Given the description of an element on the screen output the (x, y) to click on. 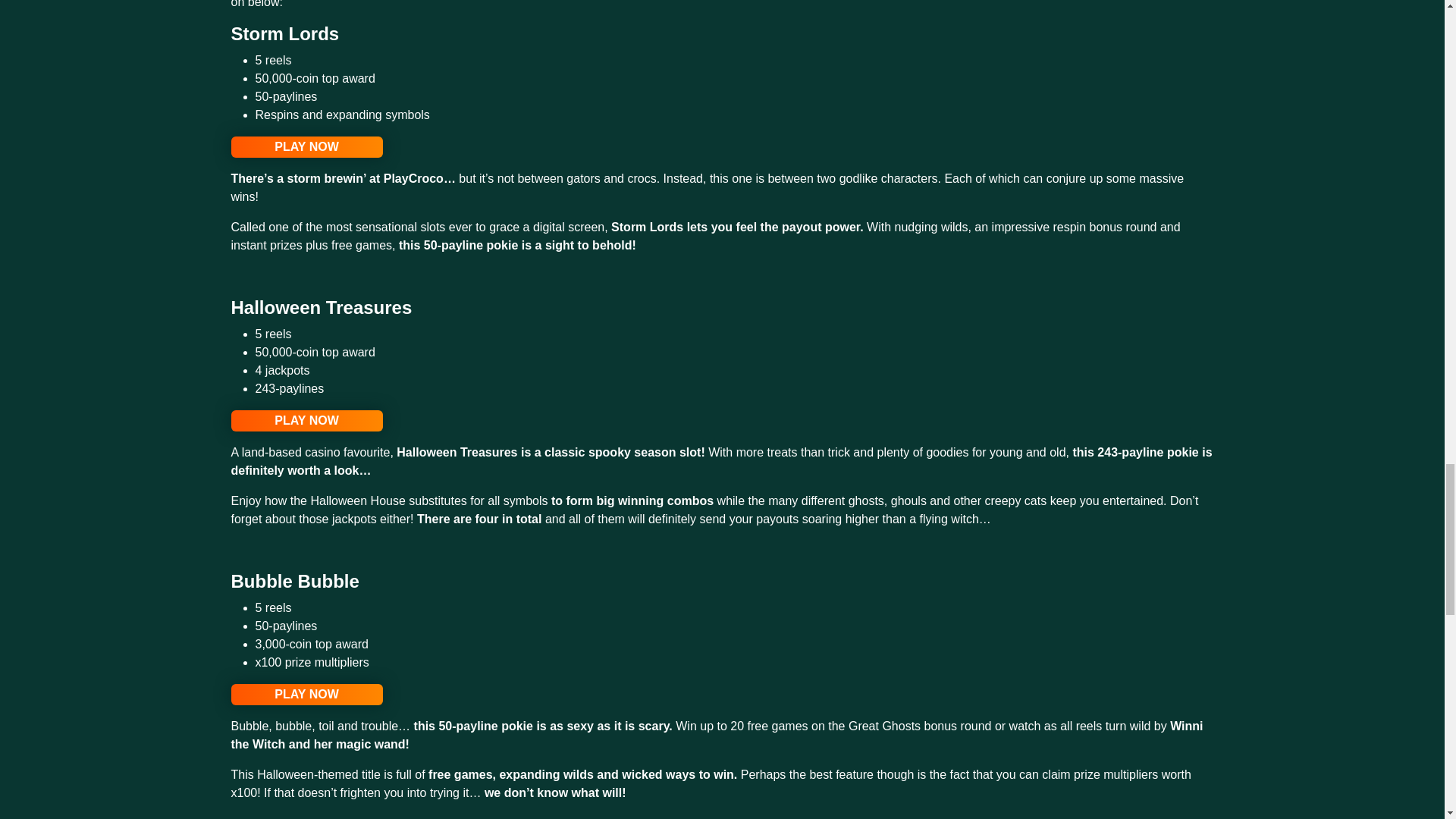
playcroco login (305, 147)
PLAY NOW (305, 420)
PLAY NOW (305, 147)
playcroco login (305, 420)
playcroco login (305, 694)
PLAY NOW (305, 694)
